Given the description of an element on the screen output the (x, y) to click on. 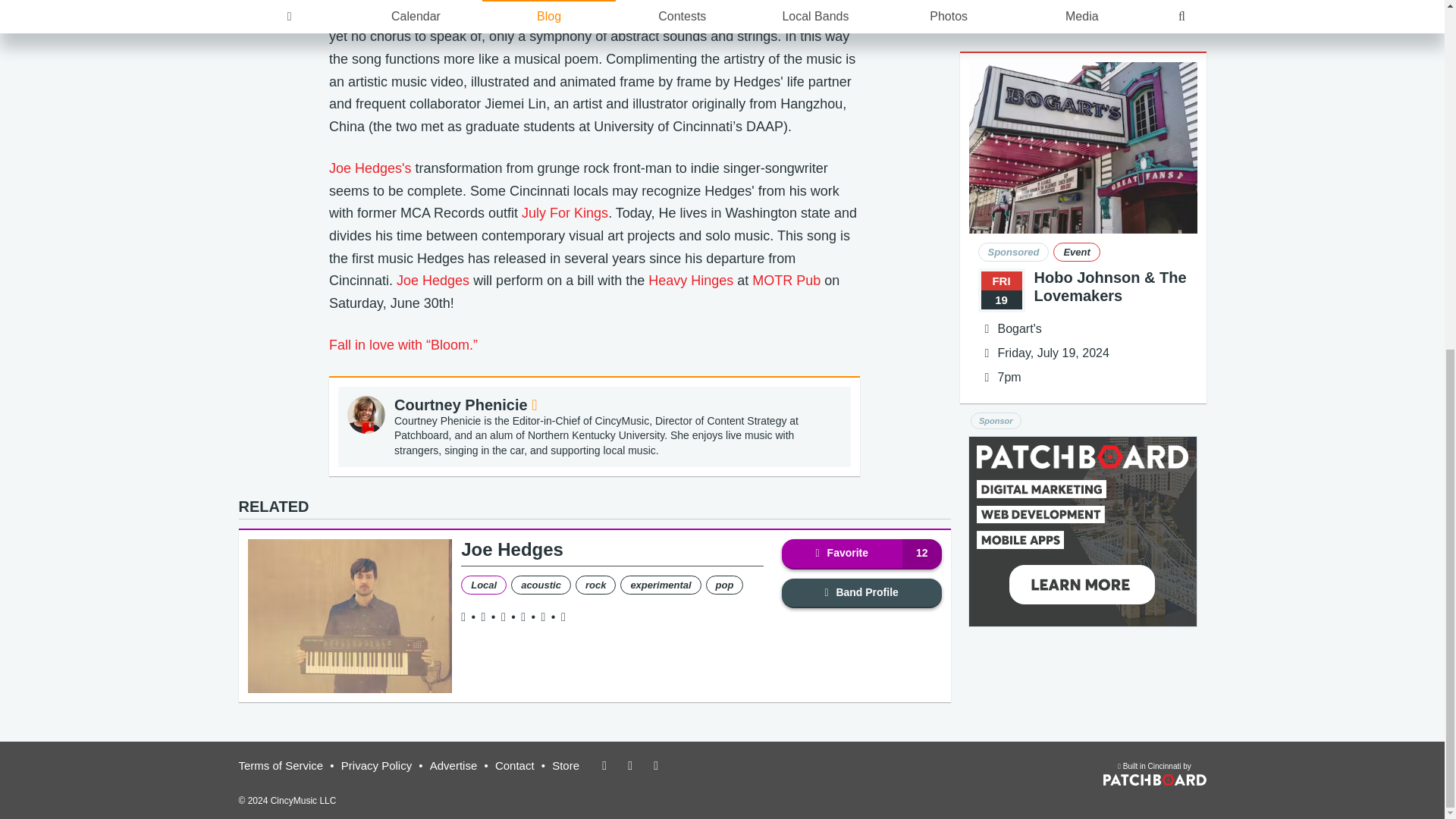
July For Kings (564, 212)
Joe Hedges's (370, 168)
Heavy Hinges (690, 280)
MOTR Pub (786, 280)
Joe Hedges (432, 280)
Joe Hedges (512, 548)
Courtney Phenicie  (465, 404)
"Bloom" (494, 13)
